Given the description of an element on the screen output the (x, y) to click on. 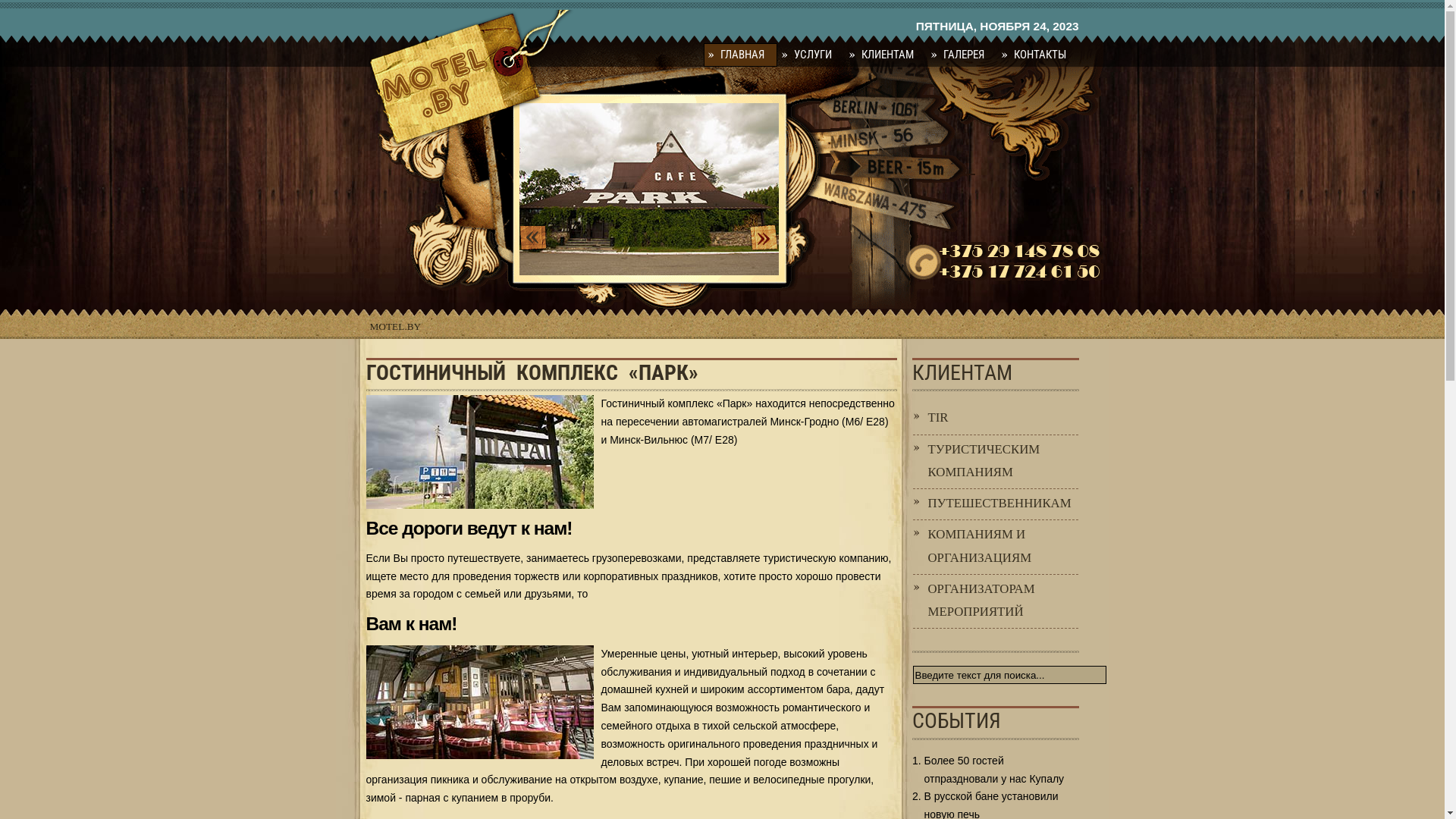
TIR Element type: text (995, 418)
